Given the description of an element on the screen output the (x, y) to click on. 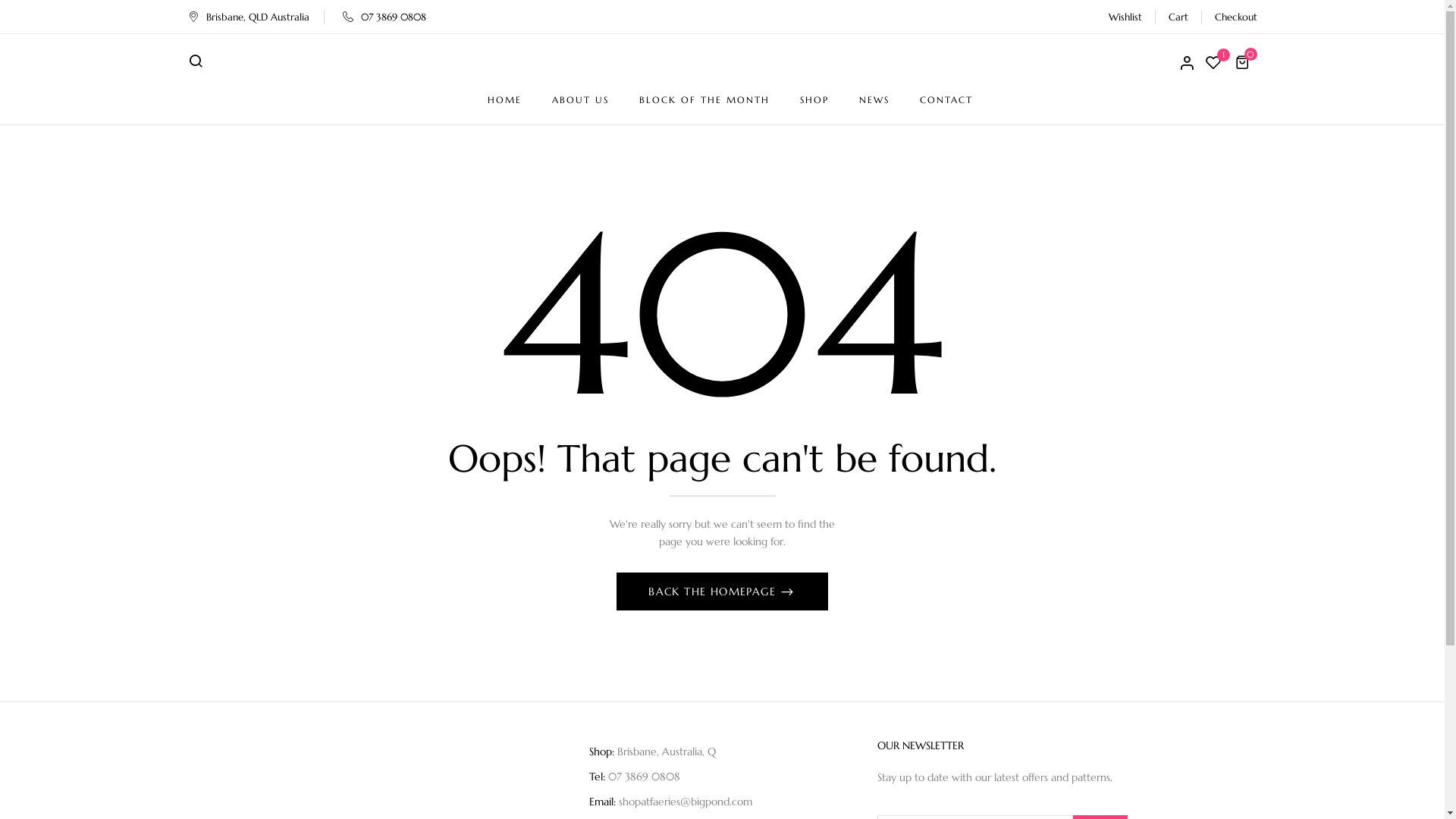
NEWS Element type: text (873, 100)
Brisbane, QLD Australia Element type: text (248, 16)
Checkout Element type: text (1235, 16)
ABOUT US Element type: text (580, 100)
Cart Element type: text (1177, 16)
CONTACT Element type: text (945, 100)
HOME Element type: text (503, 100)
SHOP Element type: text (813, 100)
shopatfaeries@bigpond.com Element type: text (685, 801)
07 3869 0808 Element type: text (384, 16)
BLOCK OF THE MONTH Element type: text (703, 100)
BACK THE HOMEPAGE Element type: text (722, 591)
Wishlist Element type: text (1125, 16)
0 Element type: text (1244, 62)
